Given the description of an element on the screen output the (x, y) to click on. 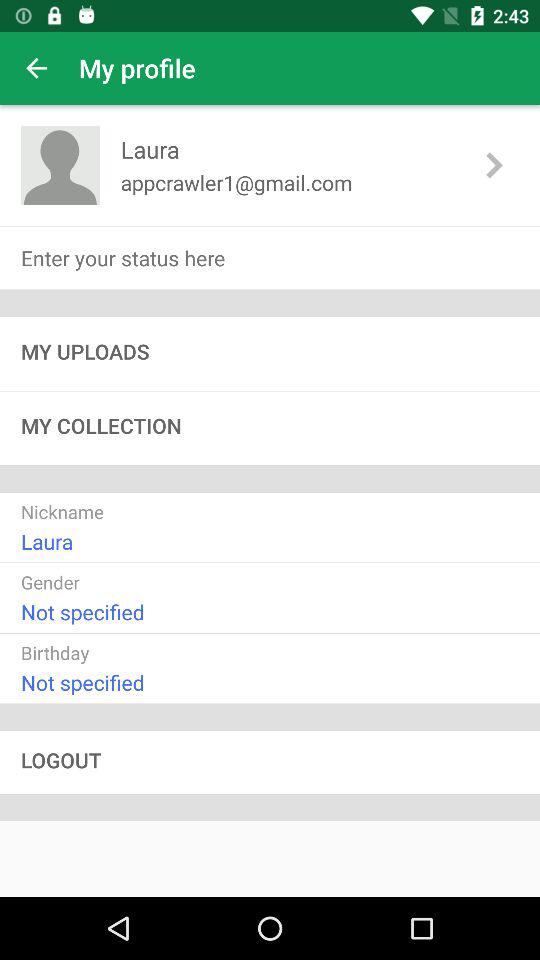
jump until the logout item (270, 762)
